Given the description of an element on the screen output the (x, y) to click on. 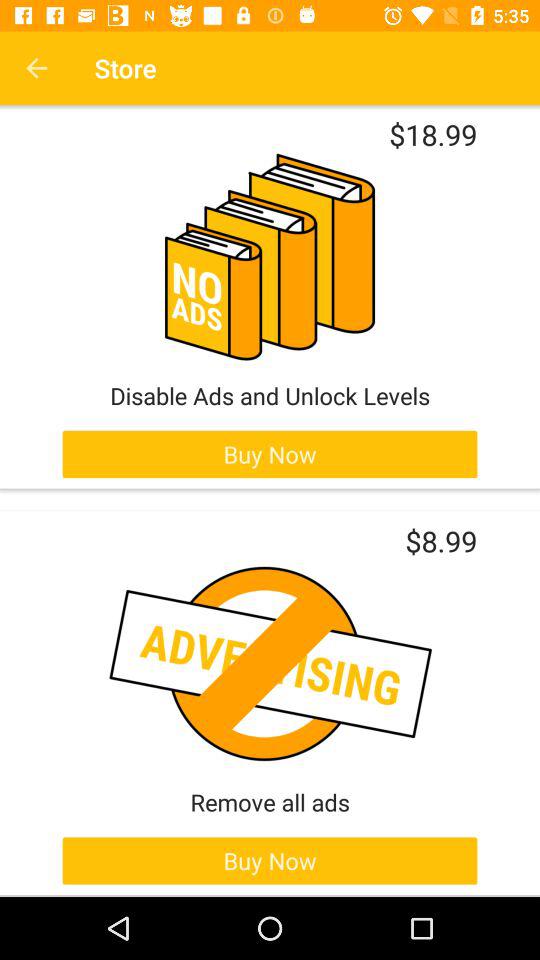
open item to the left of the store (36, 68)
